Given the description of an element on the screen output the (x, y) to click on. 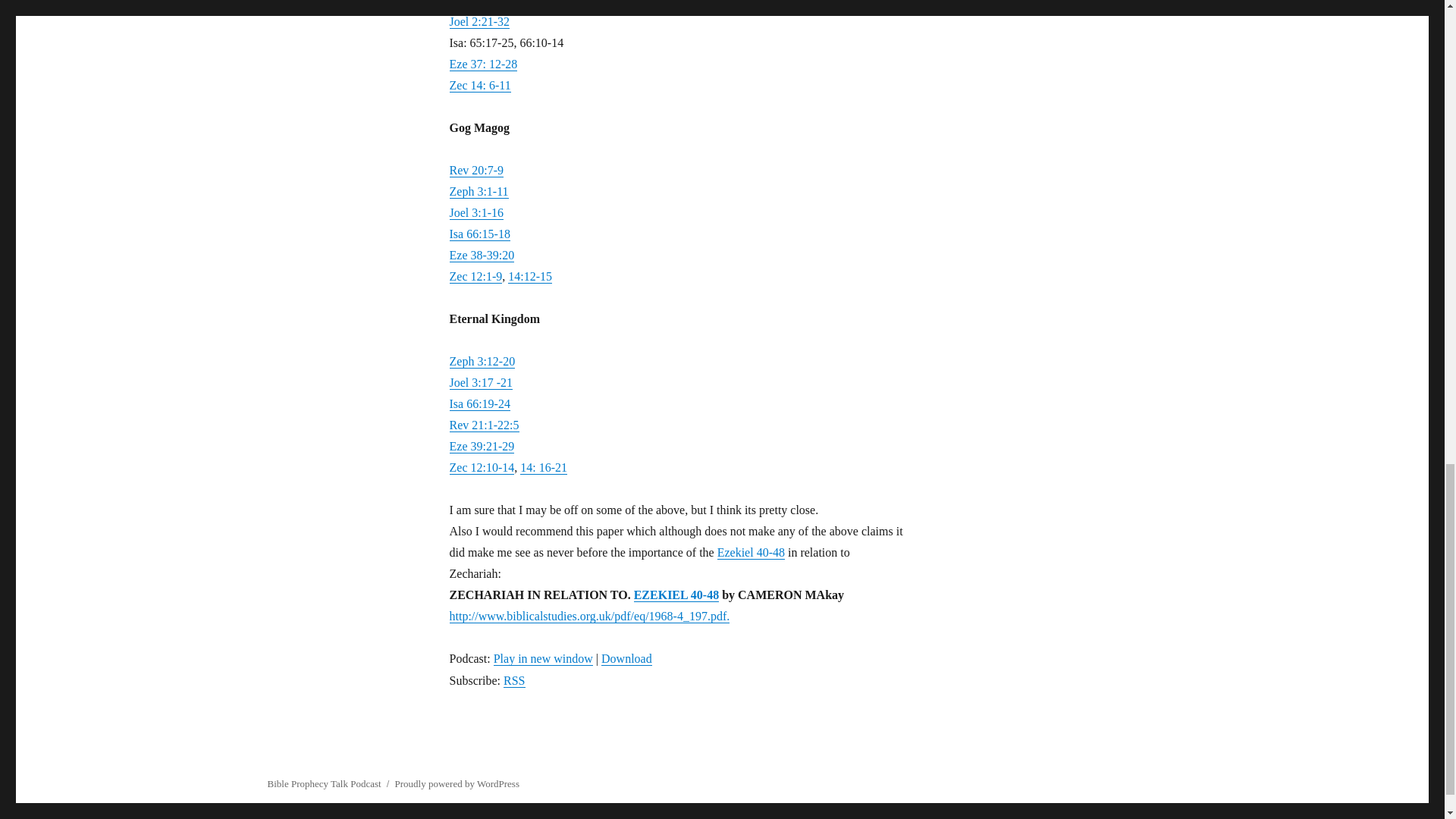
Play in new window (542, 658)
Zec 12:1-9 (475, 276)
Isa 66:15-18 (478, 233)
Rev 21:1-22:5 (483, 424)
Zec 12:10-14 (480, 467)
Zeph 3:1-11 (478, 191)
Zeph 3:12-20 (481, 360)
Isa 66:19-24 (478, 403)
Joel 3:1-16 (475, 212)
14: 16-21 (543, 467)
Eze 37: 12-28 (482, 63)
Rev 20:7-9 (475, 169)
Joel 3:17 -21 (480, 382)
Subscribe via RSS (513, 680)
Zeph 2:6-15 (478, 3)
